Given the description of an element on the screen output the (x, y) to click on. 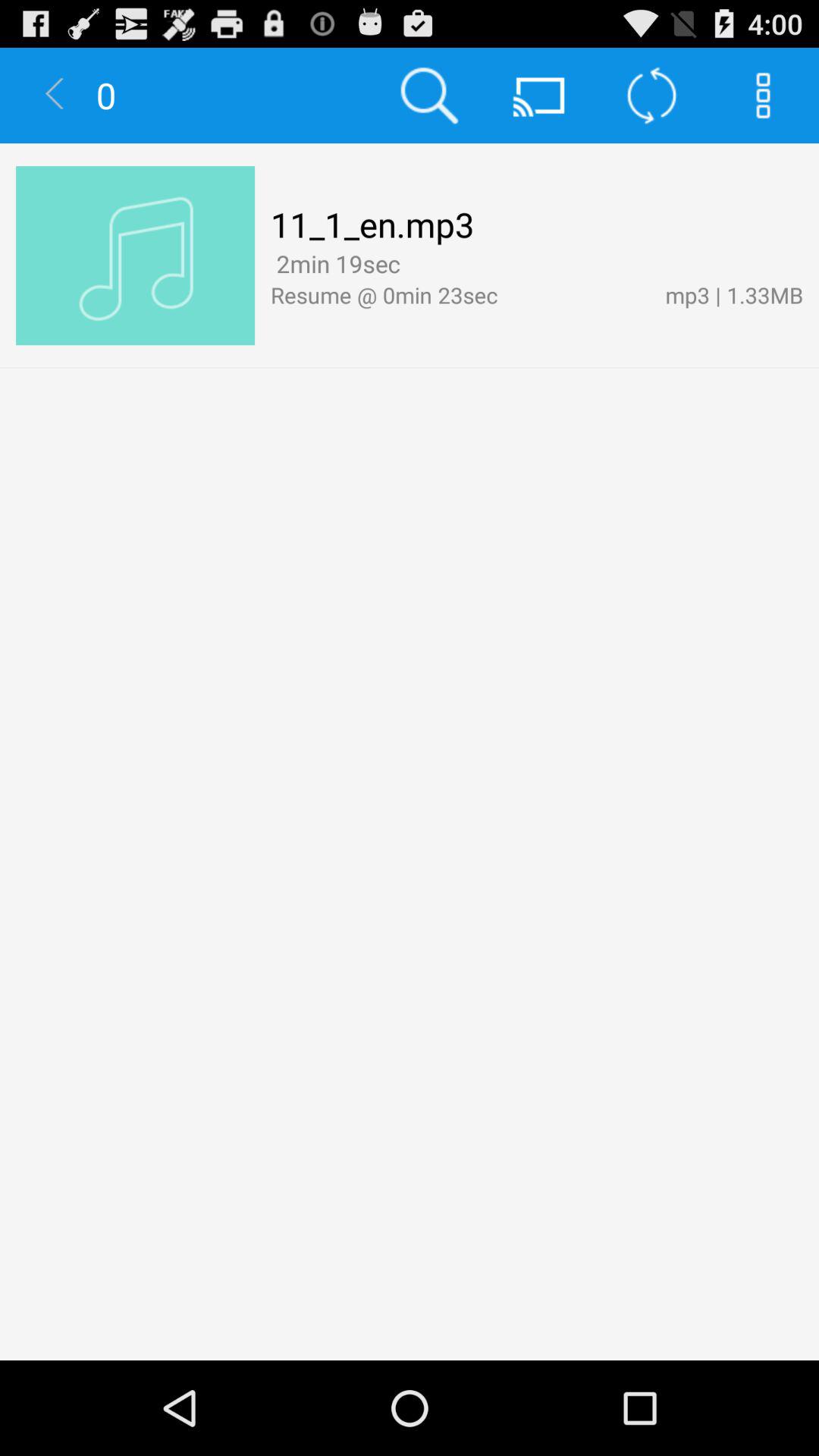
turn on item next to  2min 19sec app (411, 265)
